Given the description of an element on the screen output the (x, y) to click on. 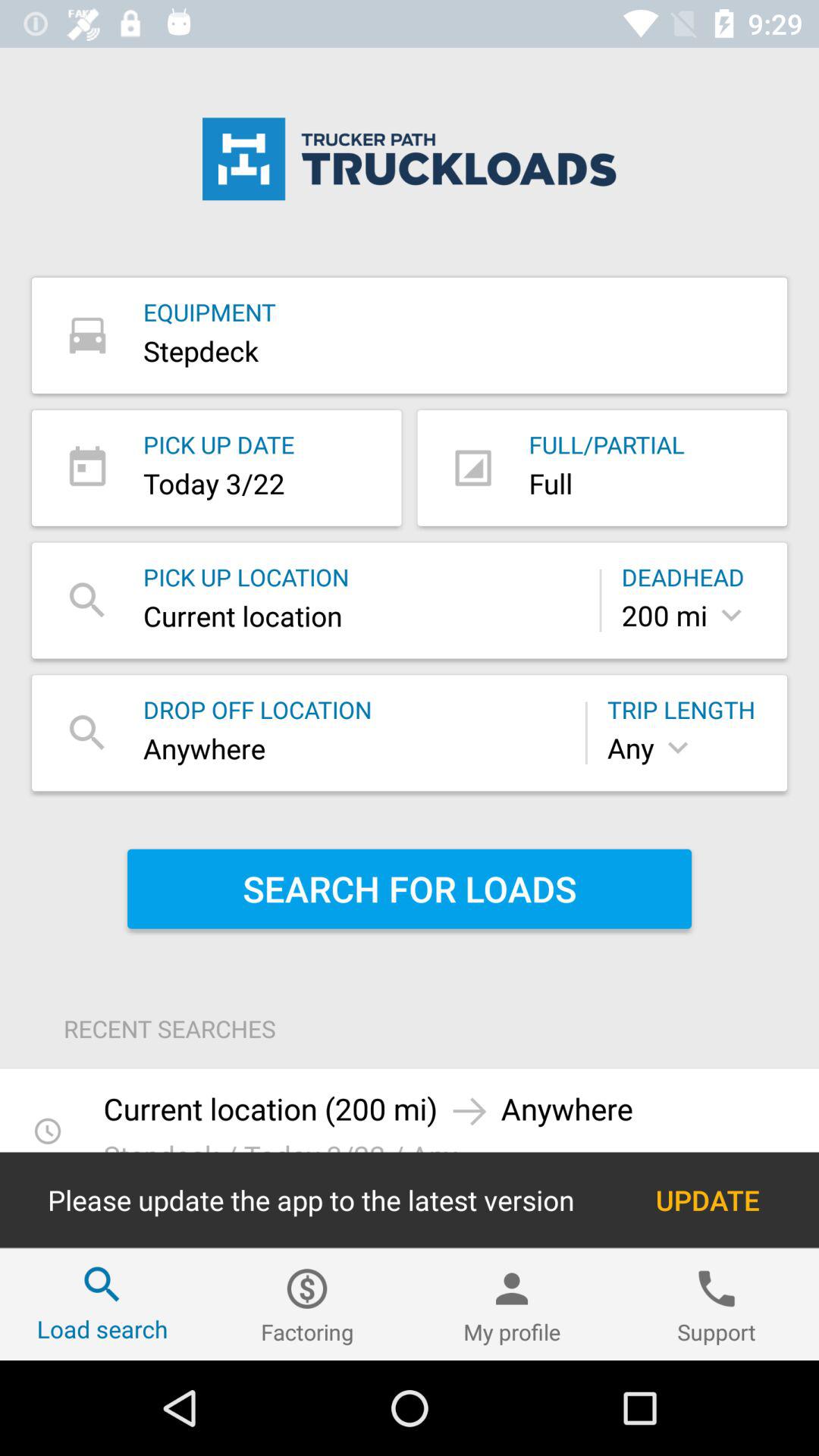
turn on the item next to factoring item (511, 1304)
